Given the description of an element on the screen output the (x, y) to click on. 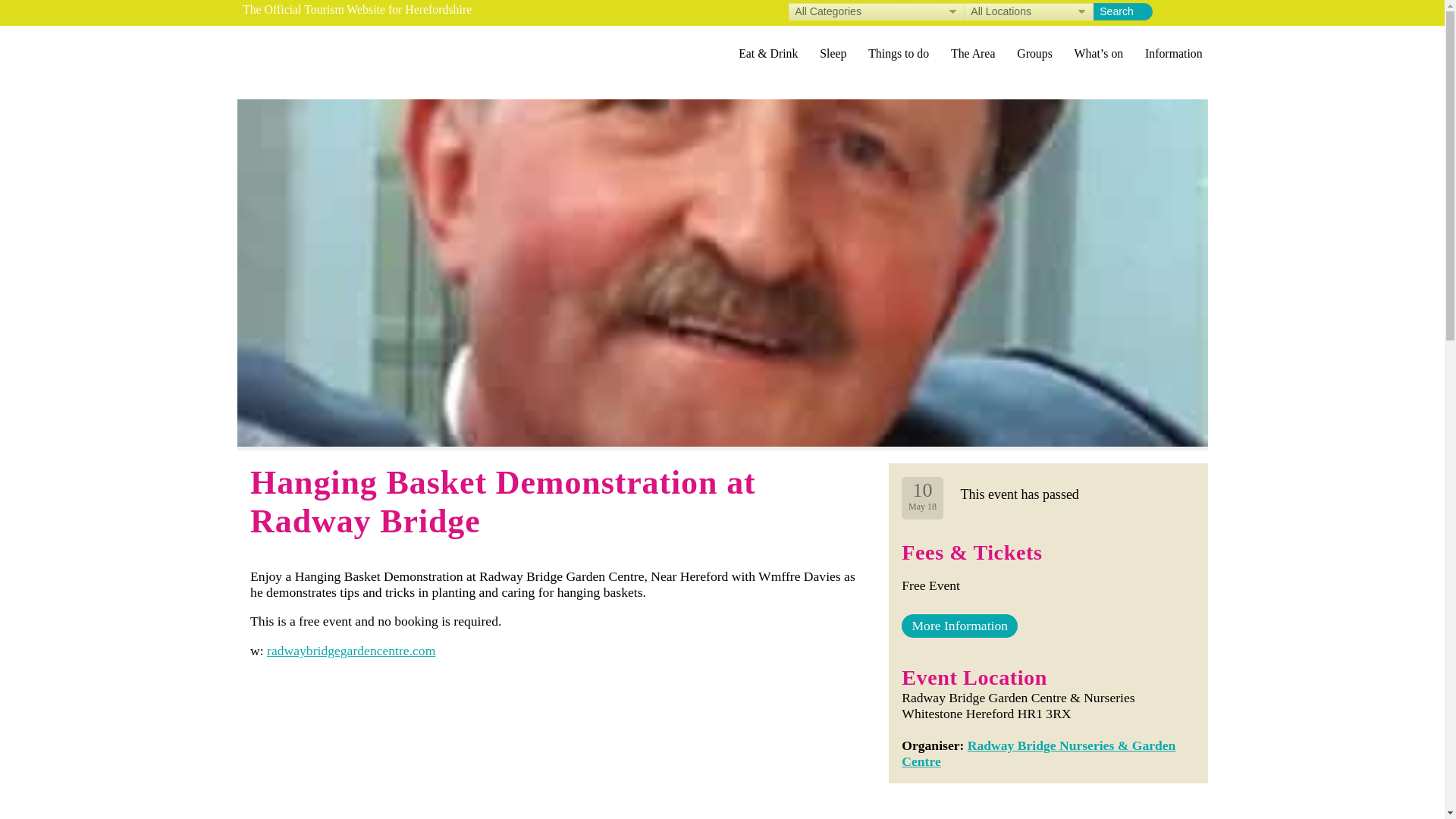
Search (1123, 12)
The Area (973, 53)
Sleep (833, 53)
Back to Homepage (322, 53)
Things to do (898, 53)
Search (1123, 12)
Search (1123, 12)
